Given the description of an element on the screen output the (x, y) to click on. 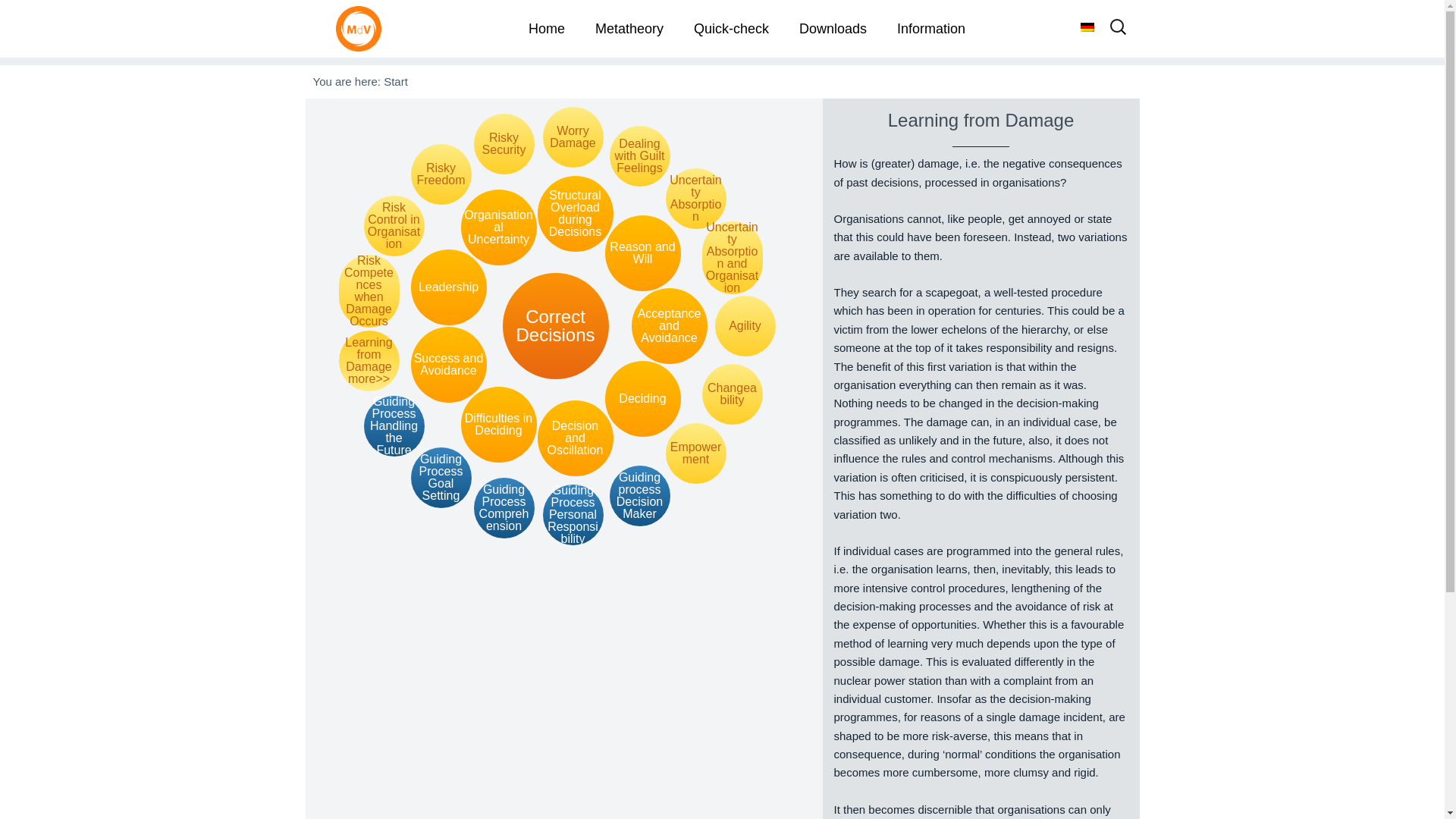
Changeability (731, 394)
Empowerment (695, 453)
Metatheory (628, 28)
Quick-check (731, 28)
Search (42, 18)
Correct Decisions (555, 325)
Information (930, 28)
Downloads (833, 28)
Home (546, 28)
Agility (744, 325)
